Given the description of an element on the screen output the (x, y) to click on. 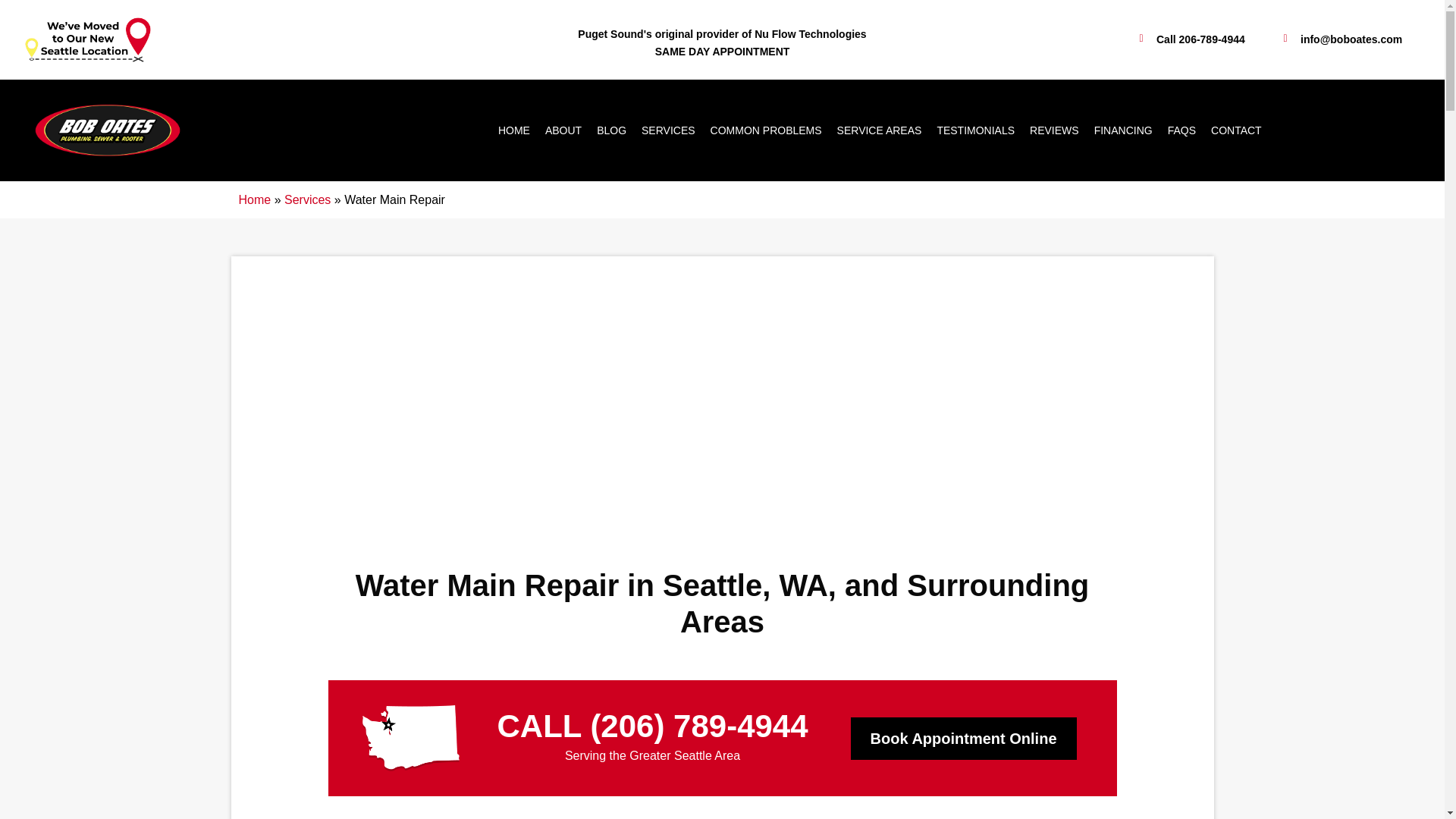
Bob Oates (107, 130)
ABOUT (563, 130)
COMMON PROBLEMS (766, 130)
BLOG (611, 130)
we-move-img (87, 39)
HOME (513, 130)
bob-oates-seattle-wa-white (411, 738)
SERVICES (668, 130)
Puget Sound's original provider of Nu Flow Technologies (722, 33)
Call 206-789-4944 (1189, 39)
SERVICE AREAS (879, 130)
